Given the description of an element on the screen output the (x, y) to click on. 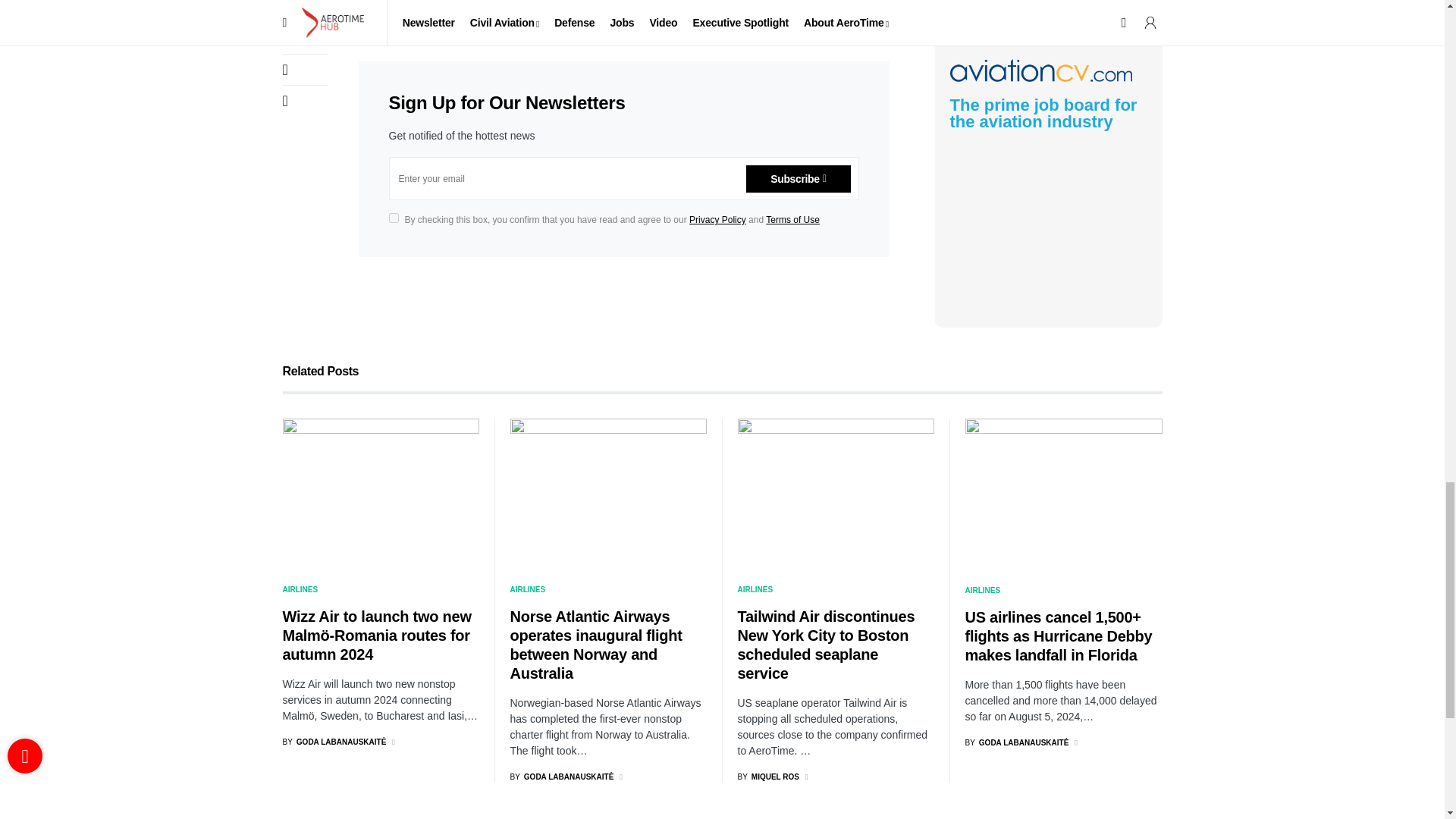
on (392, 217)
View all posts by Miquel Ros (767, 776)
